Given the description of an element on the screen output the (x, y) to click on. 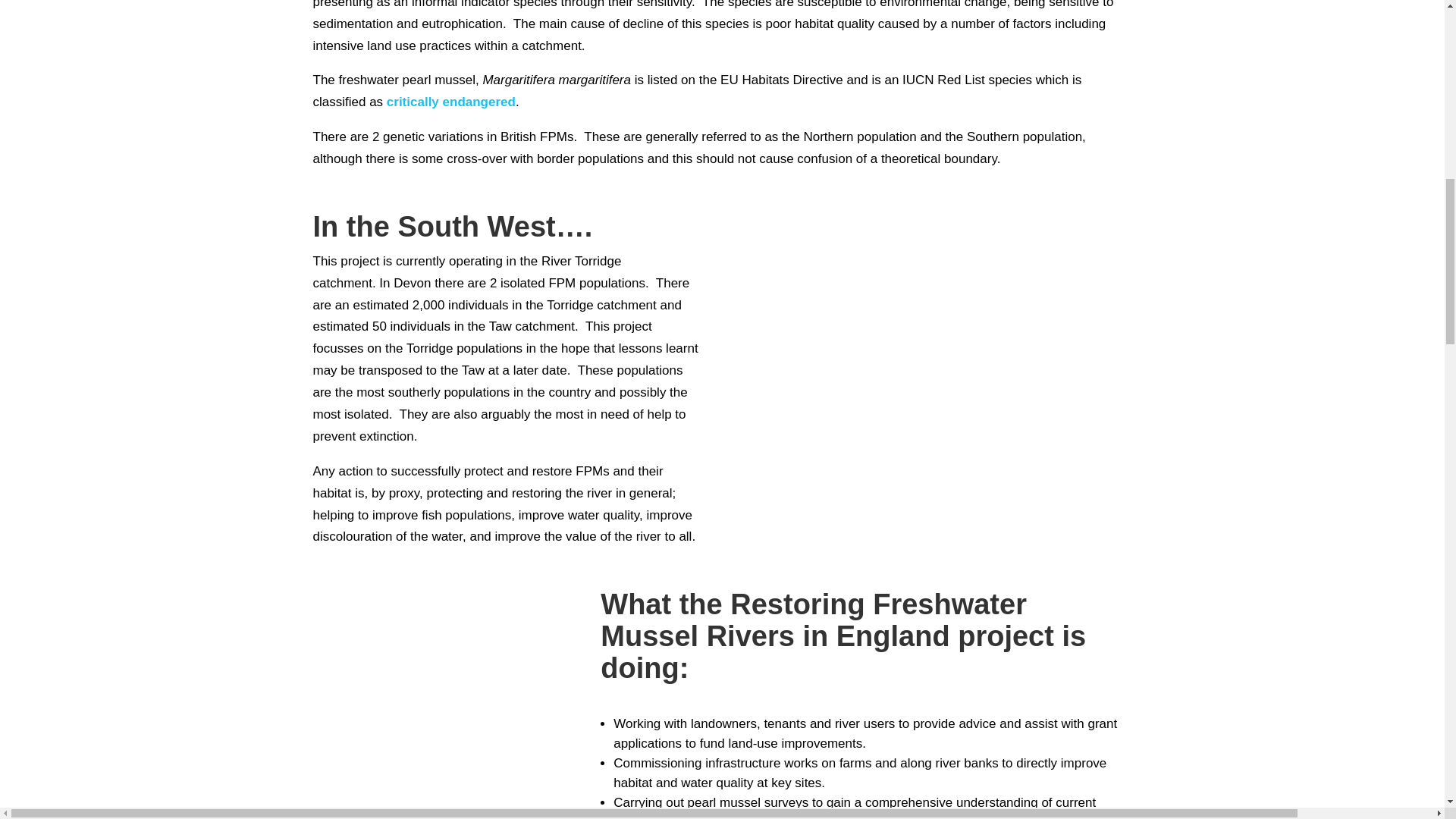
critically endangered (451, 101)
